Given the description of an element on the screen output the (x, y) to click on. 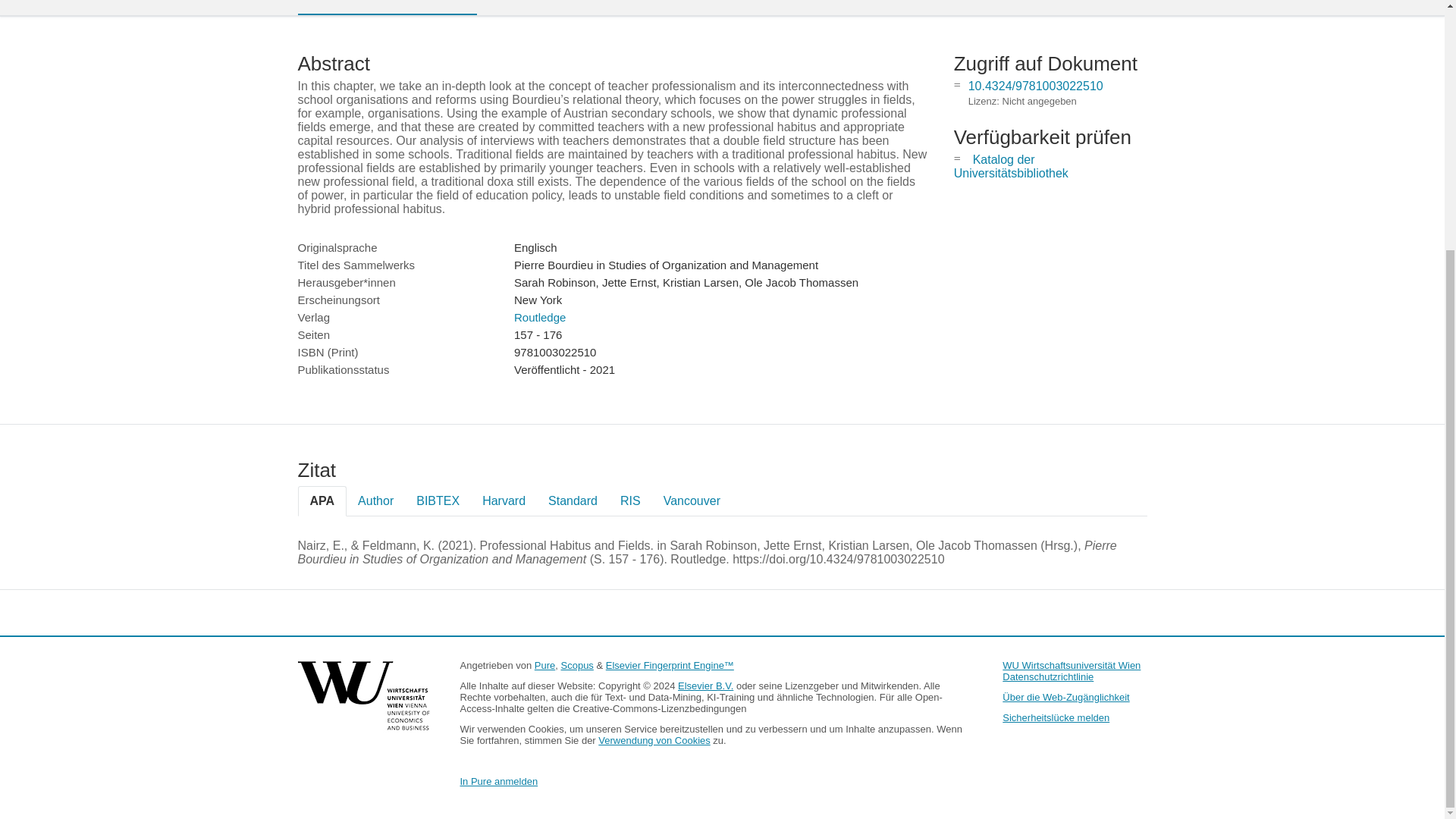
Scopus (577, 665)
Pure (544, 665)
In Pure anmelden (498, 781)
Verwendung von Cookies (654, 740)
Routledge (539, 317)
Elsevier B.V. (705, 685)
